Given the description of an element on the screen output the (x, y) to click on. 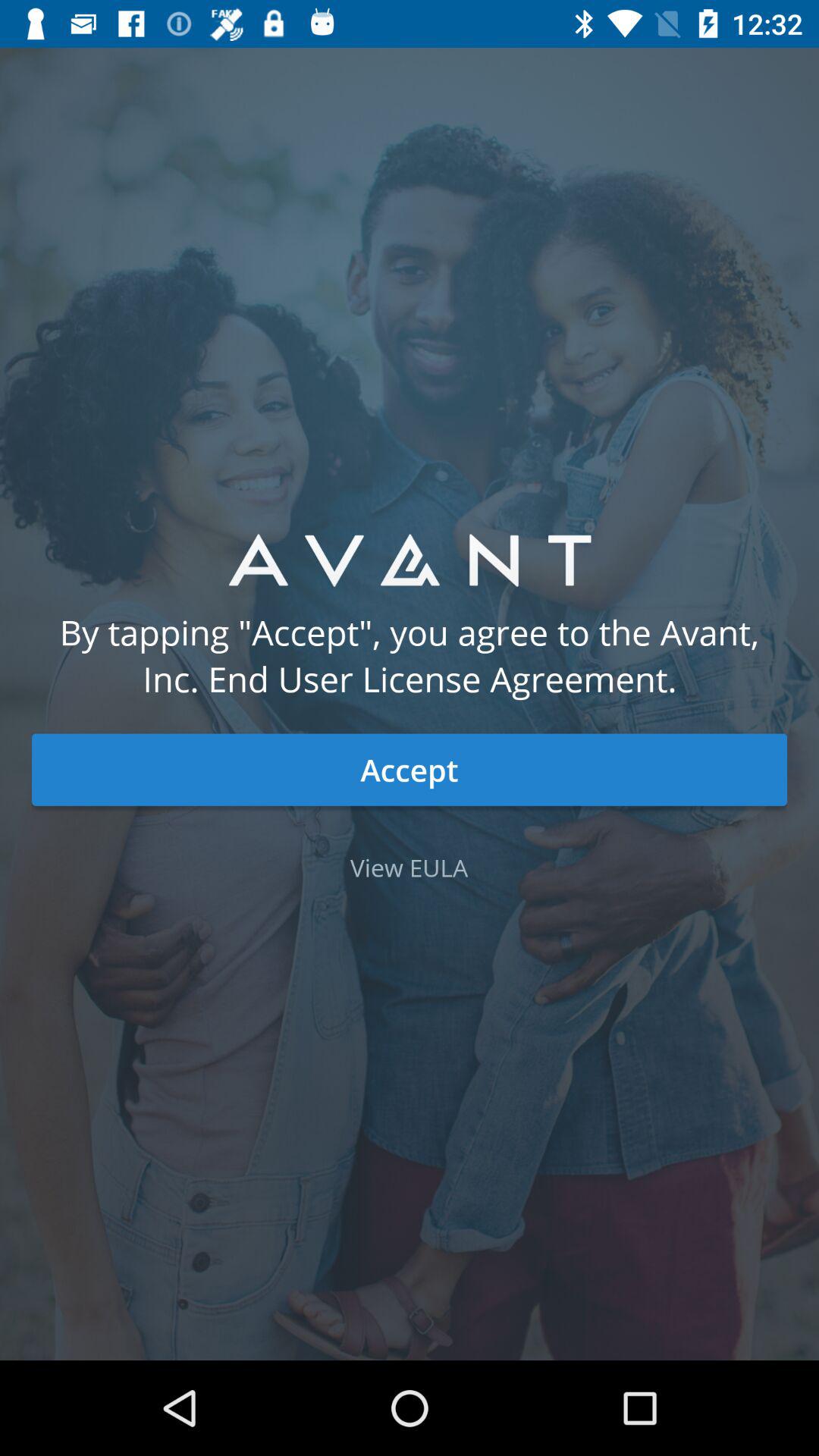
press view eula item (409, 867)
